Given the description of an element on the screen output the (x, y) to click on. 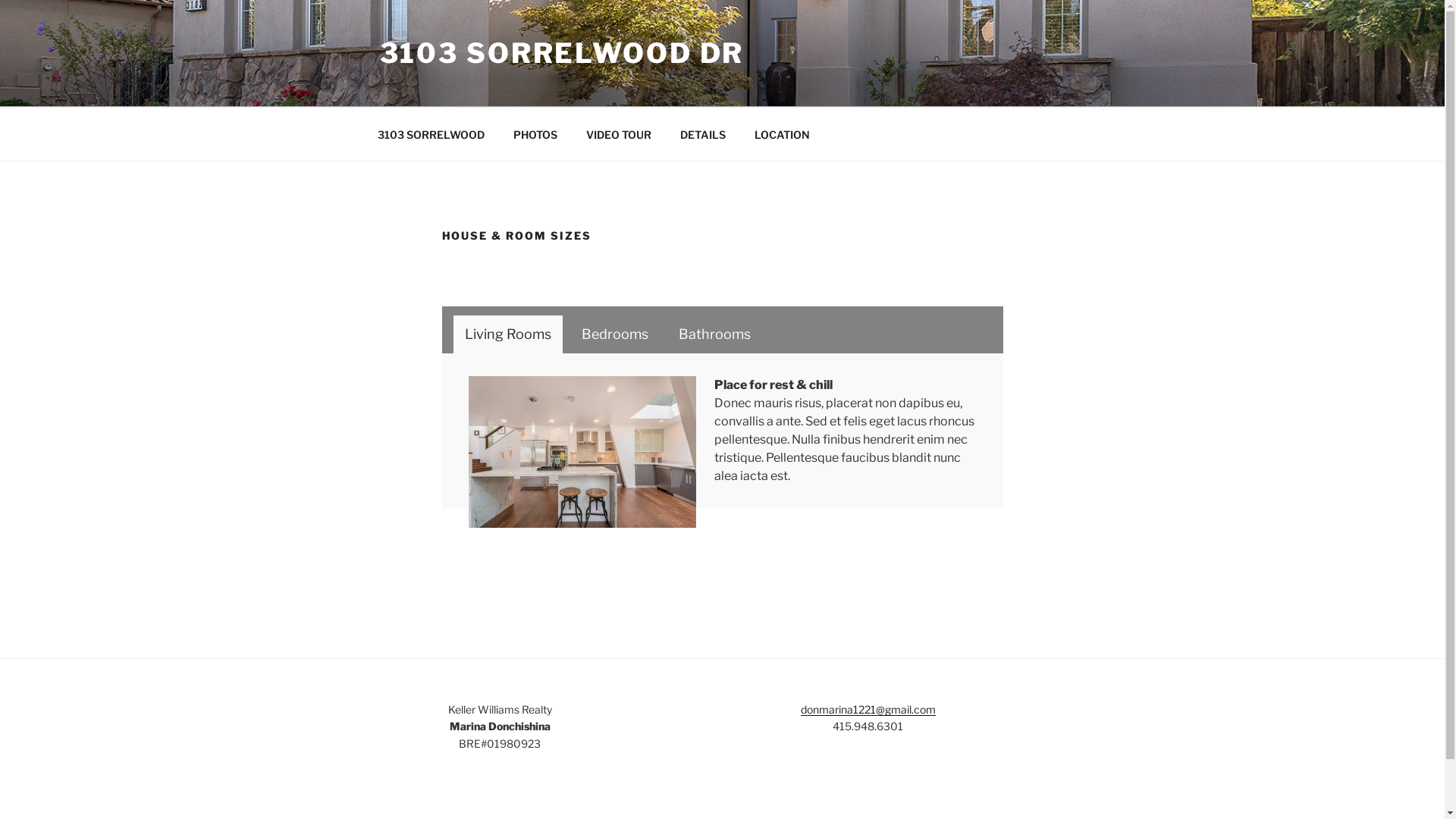
VIDEO TOUR Element type: text (619, 133)
donmarina1221@gmail.com Element type: text (867, 708)
3103 SORRELWOOD Element type: text (430, 133)
3103 SORRELWOOD DR Element type: text (561, 52)
PHOTOS Element type: text (535, 133)
LOCATION Element type: text (782, 133)
DETAILS Element type: text (703, 133)
